Given the description of an element on the screen output the (x, y) to click on. 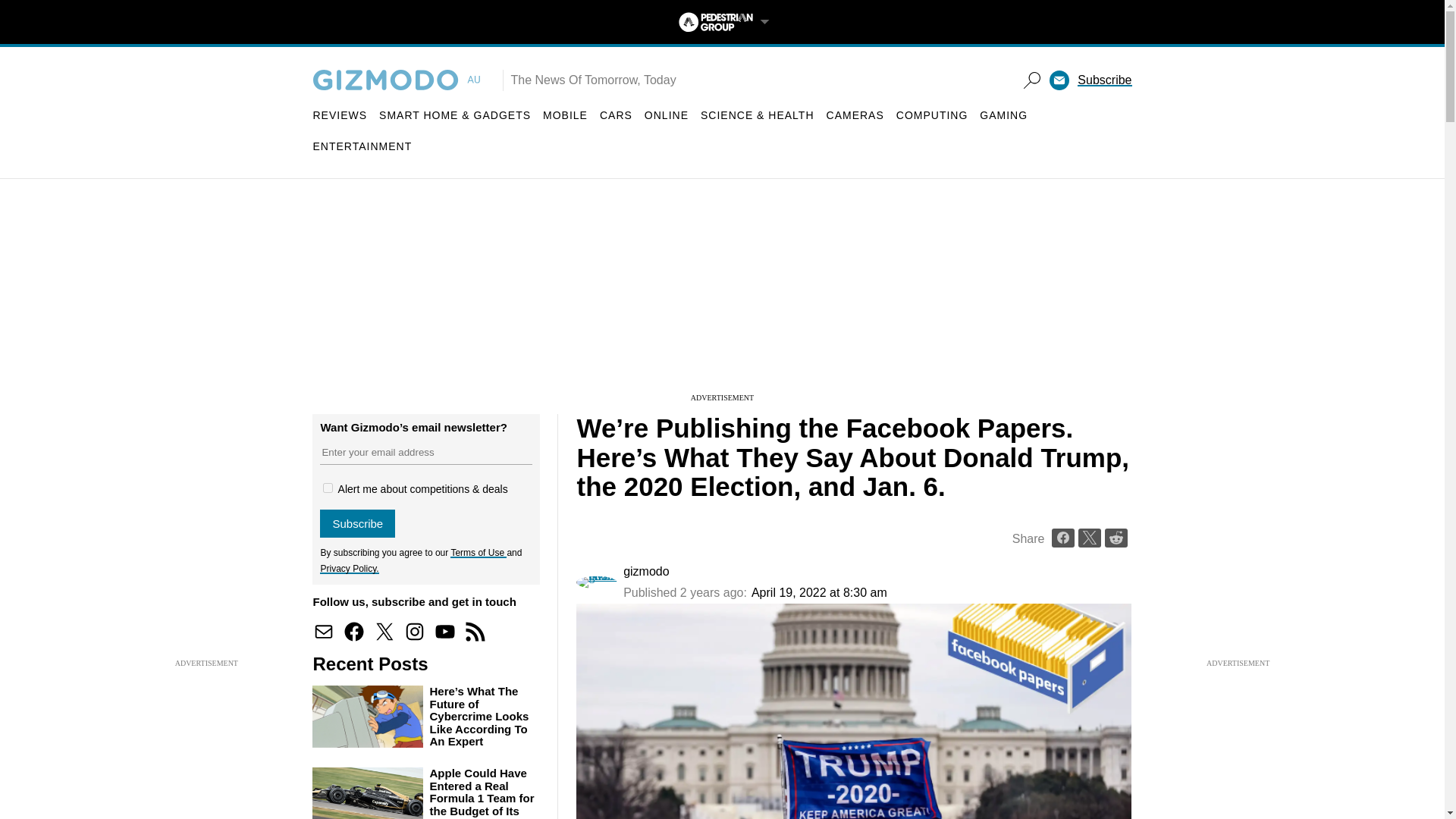
Subscribe (1104, 79)
ENTERTAINMENT (362, 145)
REVIEWS (339, 115)
MOBILE (565, 115)
ONLINE (666, 115)
3rd party ad content (721, 296)
GAMING (1003, 115)
CAMERAS (855, 115)
COMPUTING (932, 115)
CARS (615, 115)
Subscribe (357, 523)
